Given the description of an element on the screen output the (x, y) to click on. 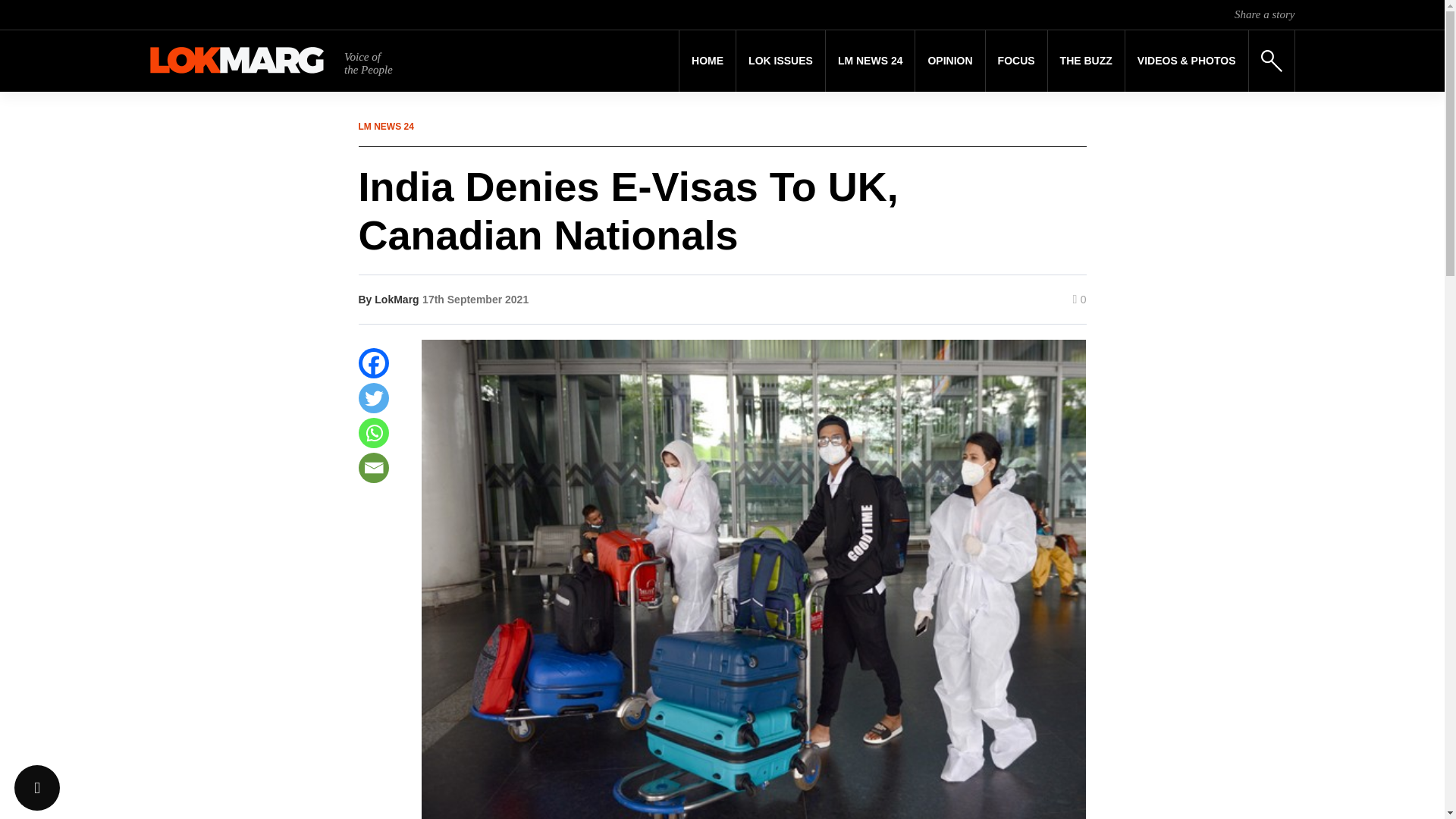
Focus (1015, 60)
Twitter (373, 398)
Whatsapp (373, 432)
LOK ISSUES (780, 60)
Facebook (373, 363)
THE BUZZ (1086, 60)
Lok Issues (780, 60)
LM NEWS 24 (870, 60)
LM News 24 (870, 60)
HOME (707, 60)
THE BUZZ (1086, 60)
Opinion (949, 60)
FOCUS (1015, 60)
LokMarg (396, 299)
OPINION (949, 60)
